Given the description of an element on the screen output the (x, y) to click on. 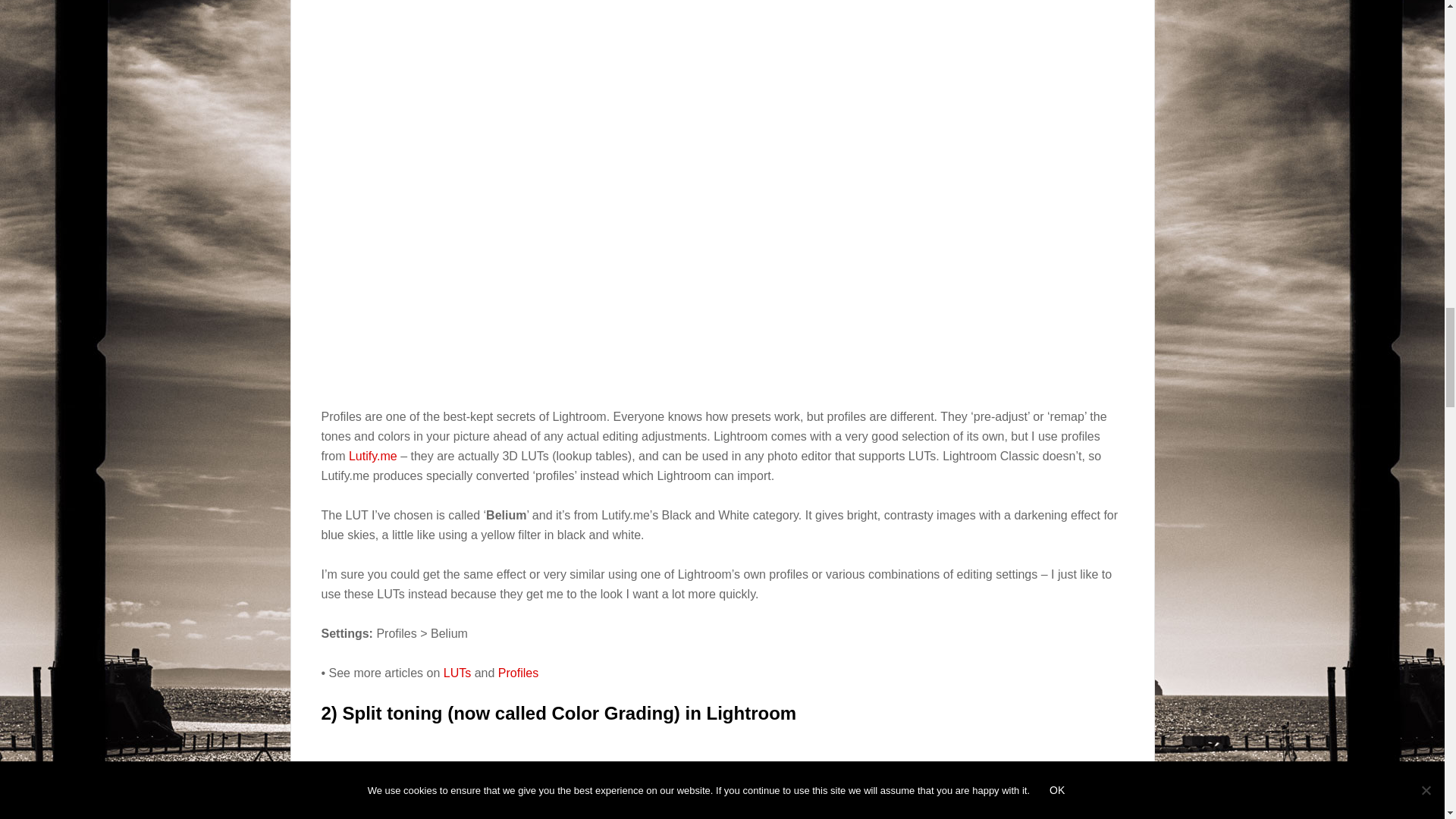
Profiles (517, 672)
Lutify.me (373, 455)
LUTs (457, 672)
